Given the description of an element on the screen output the (x, y) to click on. 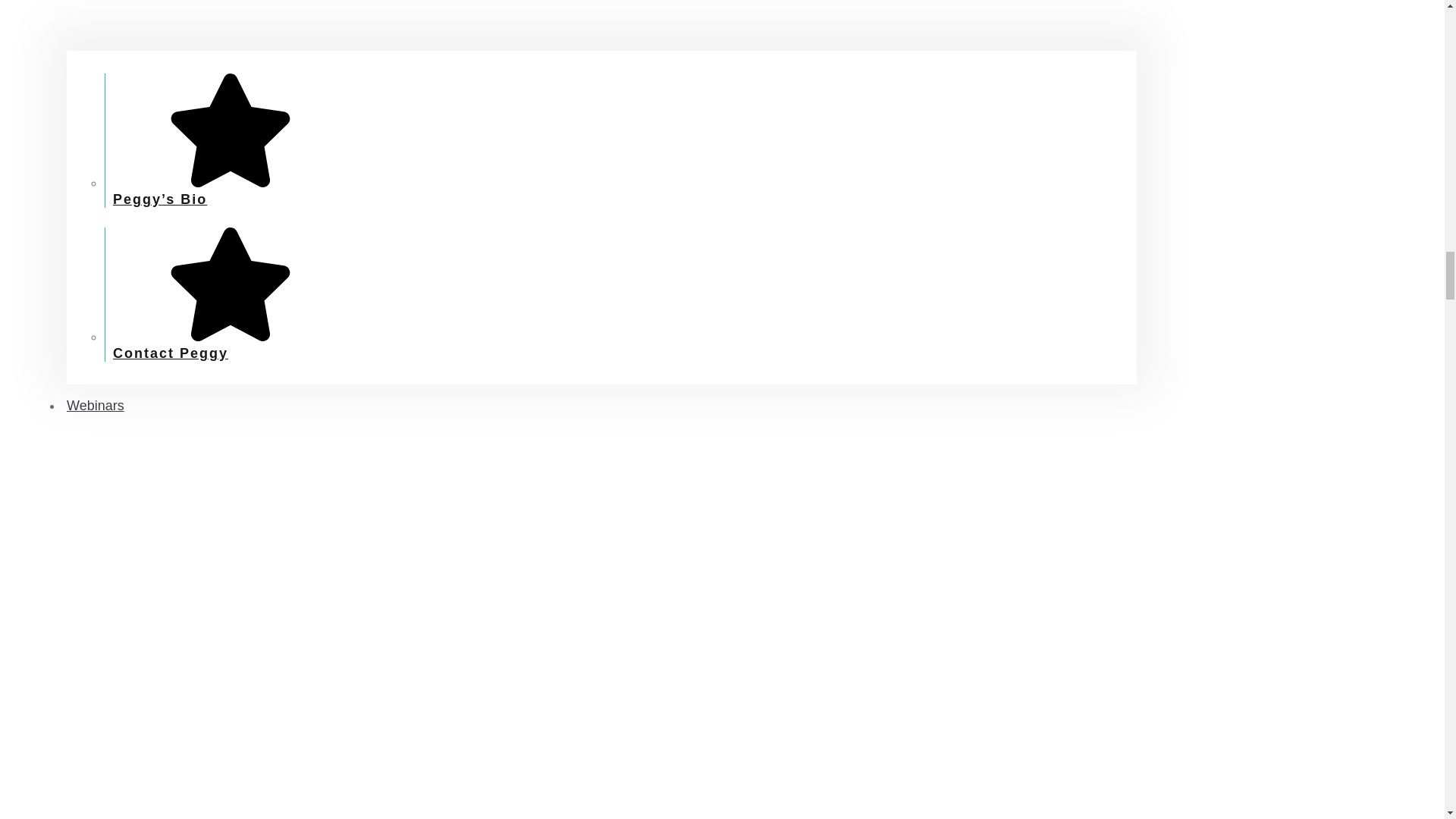
Contact Peggy (228, 345)
About Peggy (601, 24)
